Given the description of an element on the screen output the (x, y) to click on. 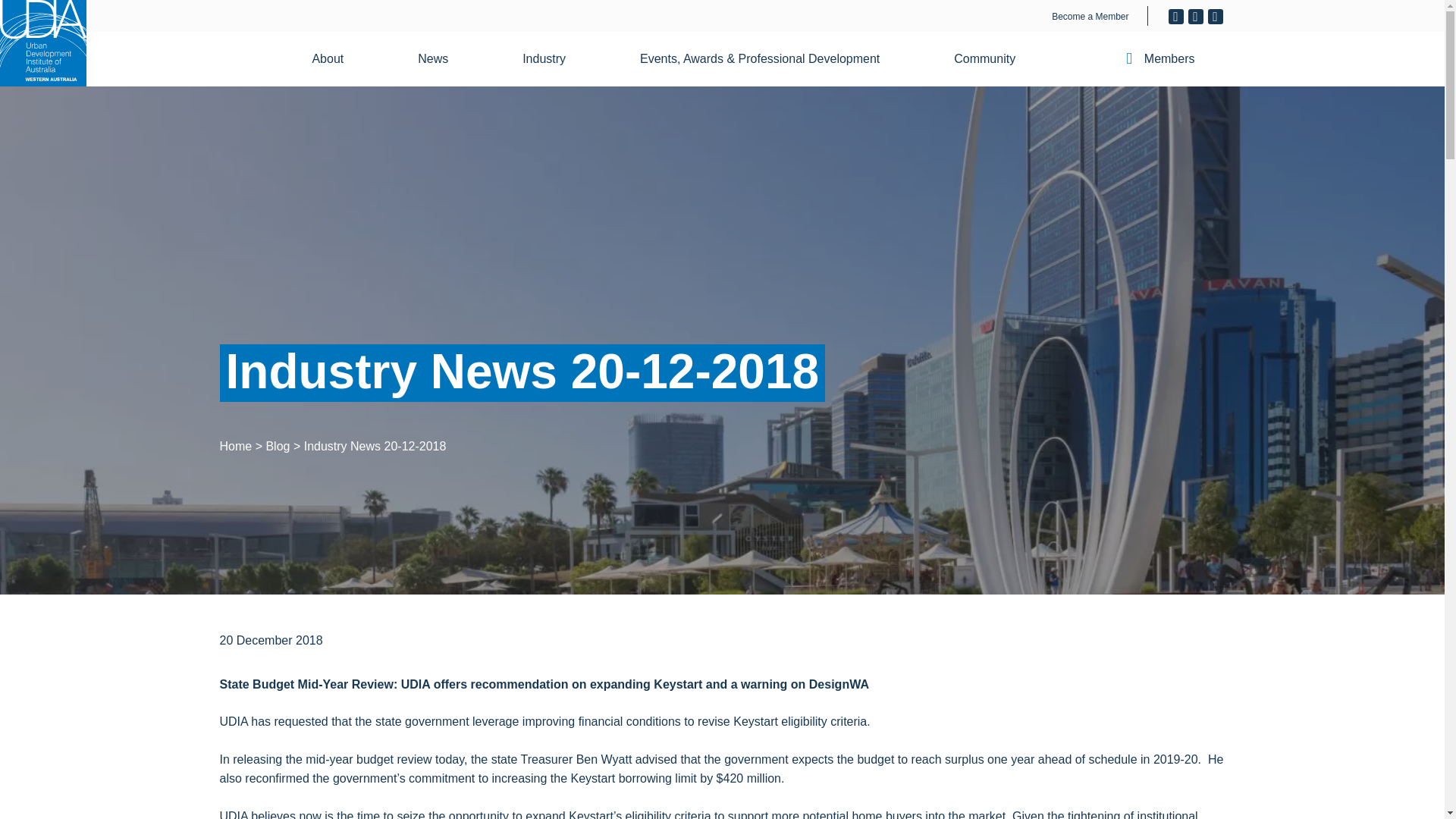
Industry (553, 59)
About (336, 59)
News (442, 59)
Become a Member (1089, 16)
Logo (42, 43)
